Given the description of an element on the screen output the (x, y) to click on. 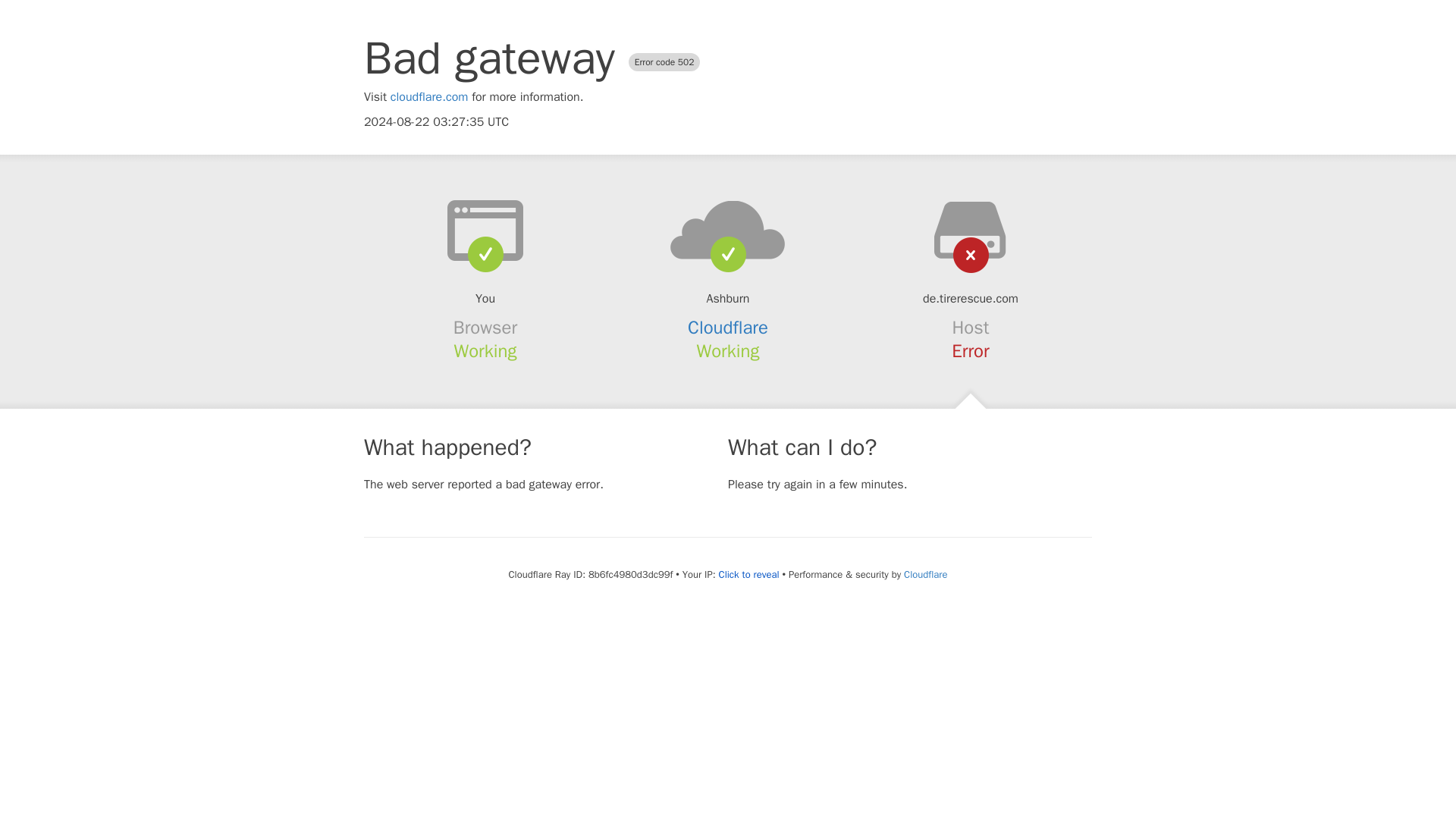
Cloudflare (727, 327)
cloudflare.com (429, 96)
Click to reveal (748, 574)
Cloudflare (925, 574)
